Given the description of an element on the screen output the (x, y) to click on. 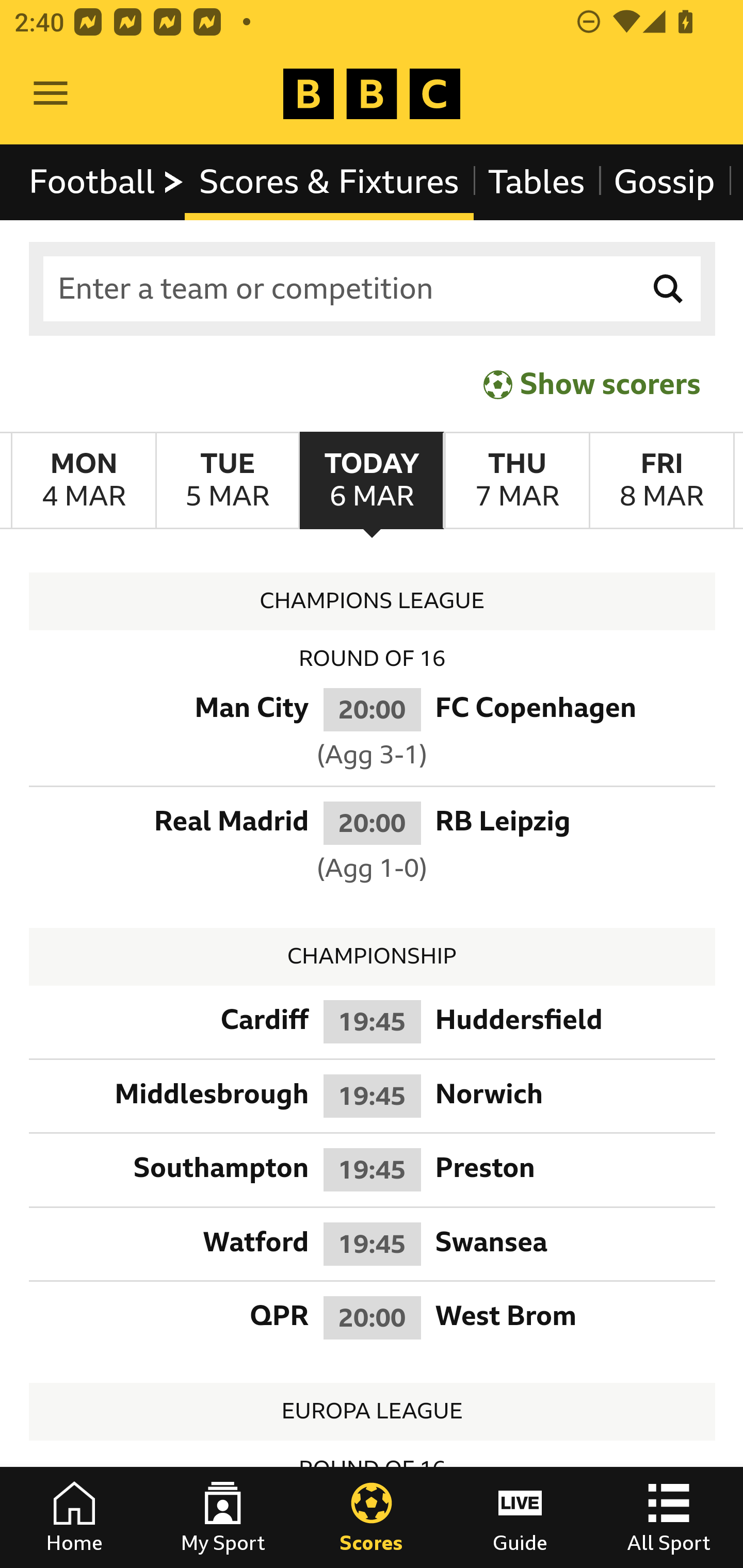
Open Menu (50, 93)
Football  (106, 181)
Scores & Fixtures (329, 181)
Tables (536, 181)
Gossip (664, 181)
Search (669, 289)
Show scorers (591, 383)
MondayMarch 4th Monday March 4th (83, 480)
TuesdayMarch 5th Tuesday March 5th (227, 480)
ThursdayMarch 7th Thursday March 7th (516, 480)
FridayMarch 8th Friday March 8th (661, 480)
Home (74, 1517)
My Sport (222, 1517)
Guide (519, 1517)
All Sport (668, 1517)
